Given the description of an element on the screen output the (x, y) to click on. 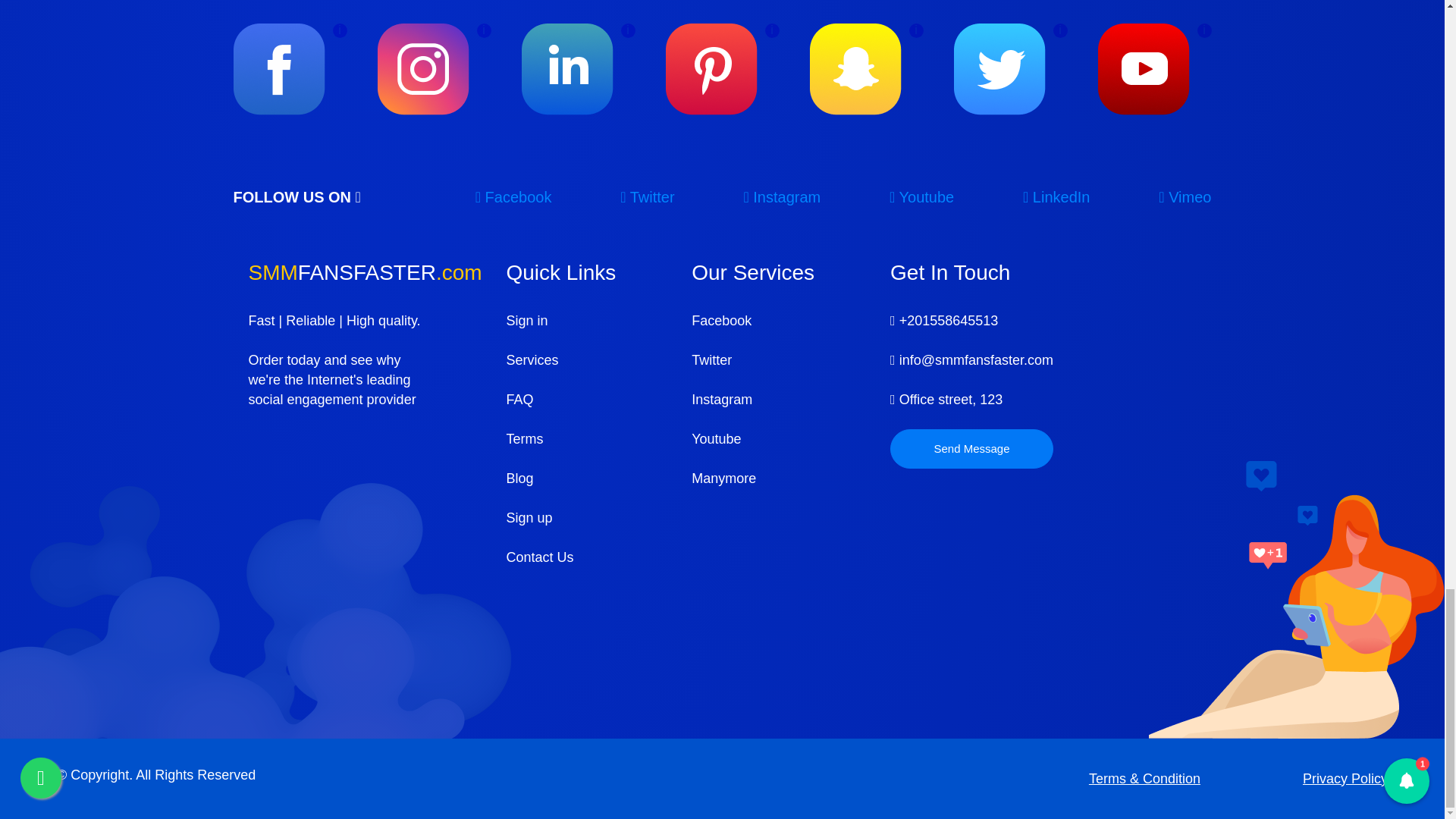
Instagram (752, 399)
Contact Us (560, 557)
LinkedIn (1056, 197)
Twitter (647, 197)
Youtube (752, 438)
Youtube (921, 197)
Terms (560, 438)
Sign up (560, 517)
Blog (560, 478)
Manymore (752, 478)
Sign in (560, 320)
Vimeo (1184, 197)
FAQ (560, 399)
Facebook (752, 320)
Services (560, 360)
